Given the description of an element on the screen output the (x, y) to click on. 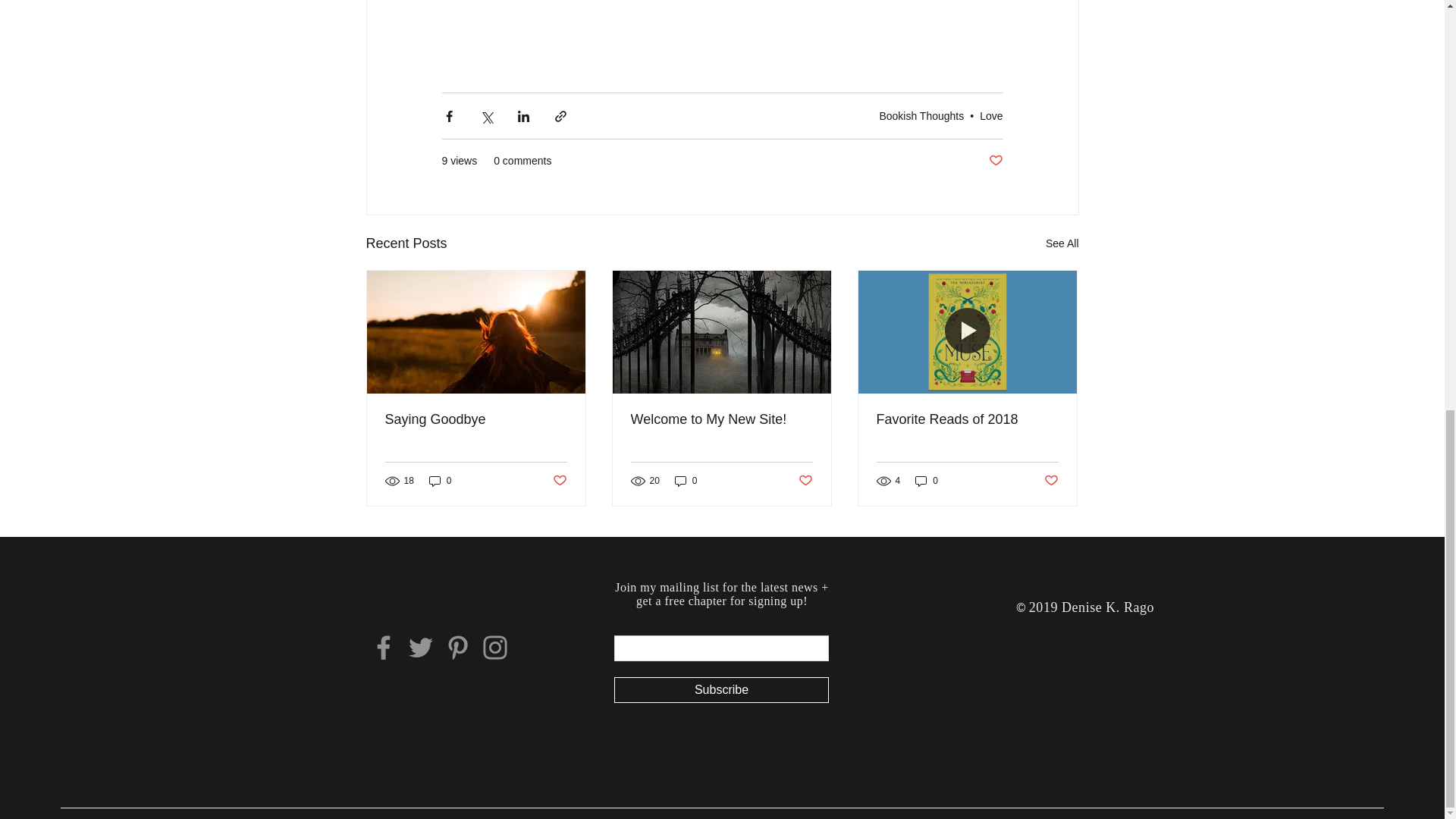
Love (991, 115)
Post not marked as liked (558, 480)
Welcome to My New Site! (721, 419)
Subscribe (721, 689)
Post not marked as liked (1050, 480)
0 (685, 481)
Favorite Reads of 2018 (967, 419)
Bookish Thoughts (921, 115)
Saying Goodbye (476, 419)
0 (440, 481)
